Given the description of an element on the screen output the (x, y) to click on. 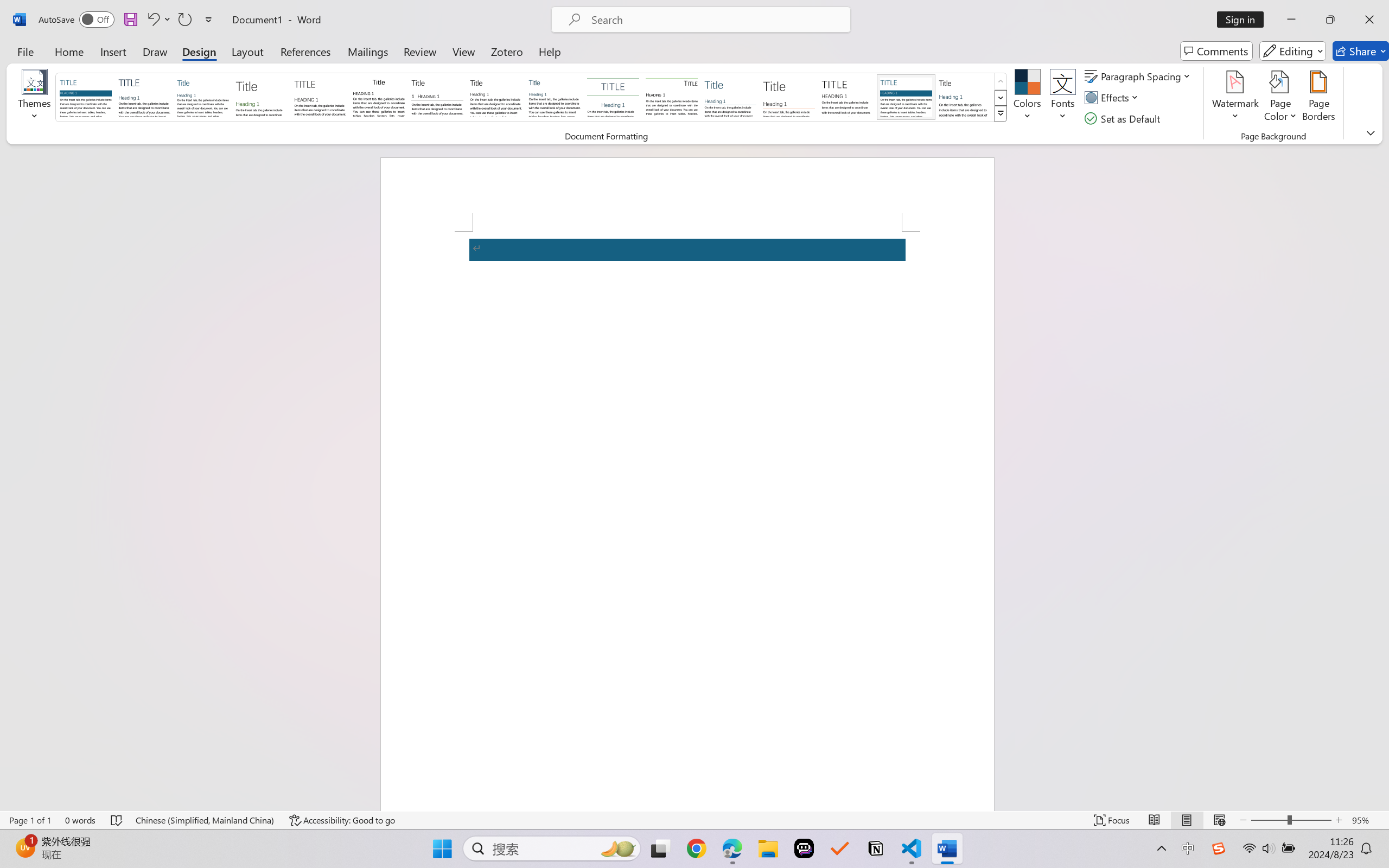
Language Chinese (Simplified, Mainland China) (205, 819)
Page Borders... (1318, 97)
Black & White (Numbered) (437, 96)
Lines (Distinctive) (671, 96)
